Given the description of an element on the screen output the (x, y) to click on. 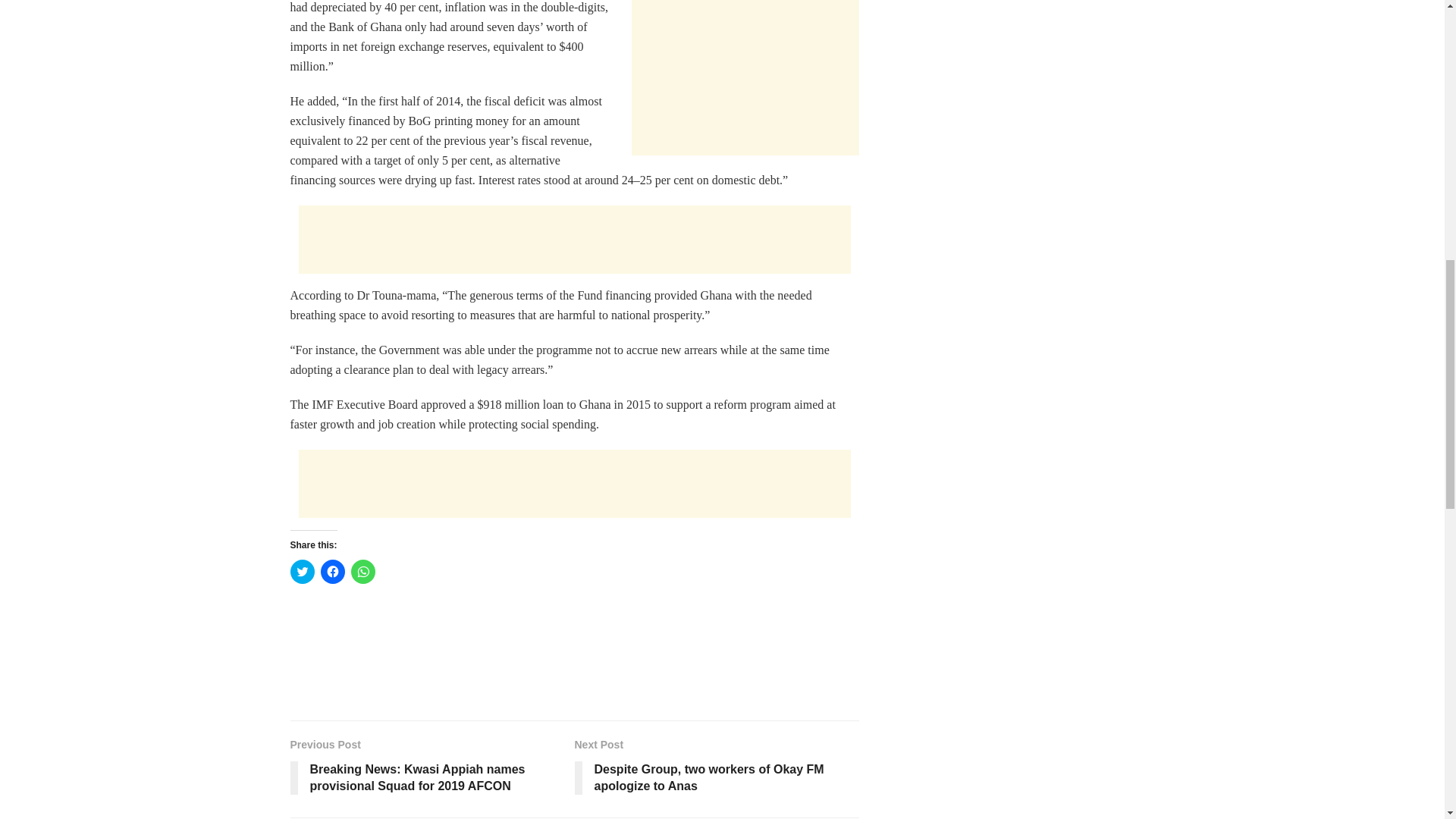
Advertisement (744, 77)
Click to share on Twitter (301, 571)
Click to share on Facebook (331, 571)
Click to share on WhatsApp (362, 571)
